Given the description of an element on the screen output the (x, y) to click on. 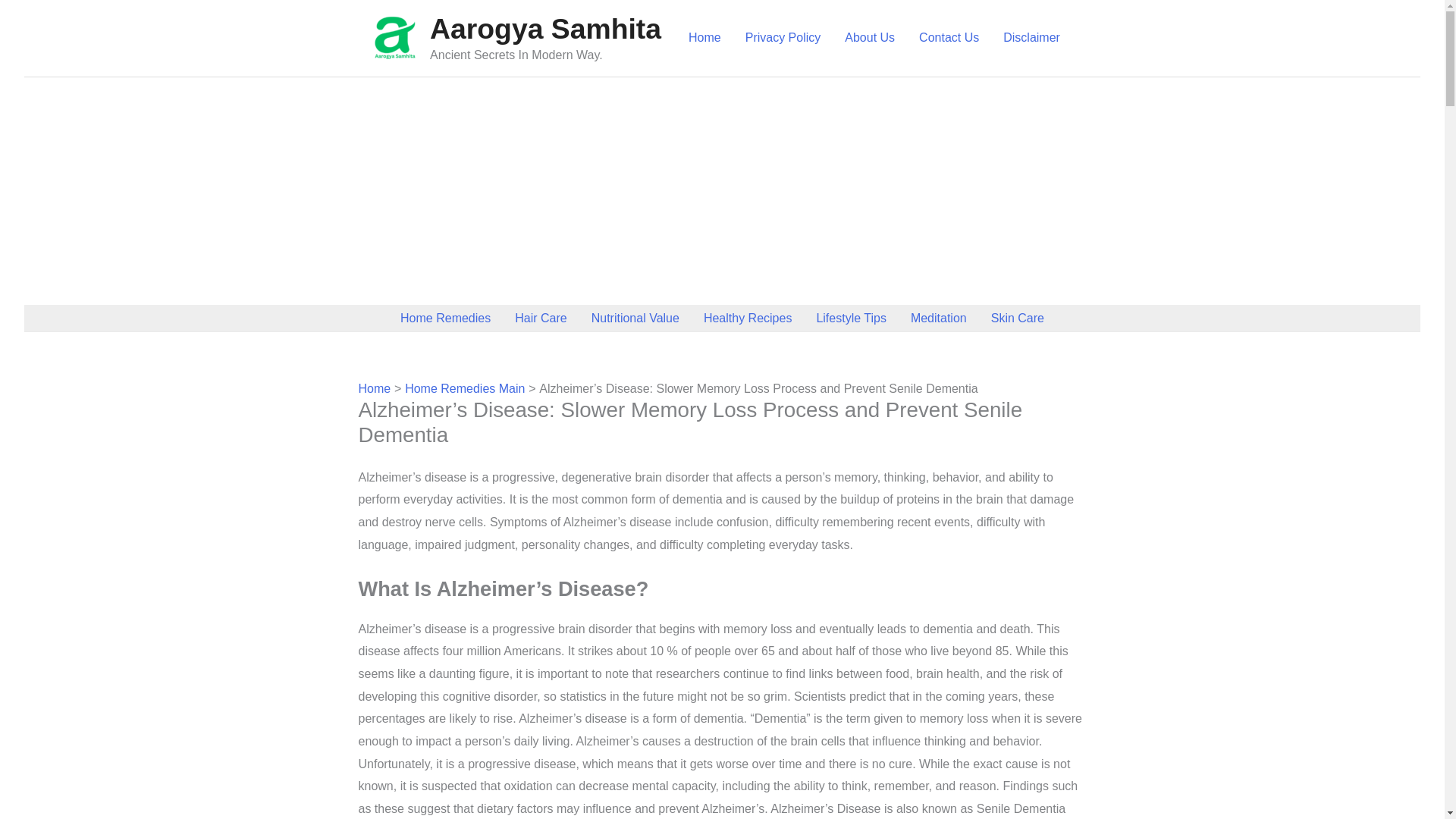
Contact Us (949, 37)
About Us (869, 37)
Privacy Policy (782, 37)
Home (705, 37)
Skin Care (1017, 317)
Healthy Recipes (748, 317)
Hair Care (540, 317)
Meditation (938, 317)
Disclaimer (1031, 37)
Nutritional Value (635, 317)
